Given the description of an element on the screen output the (x, y) to click on. 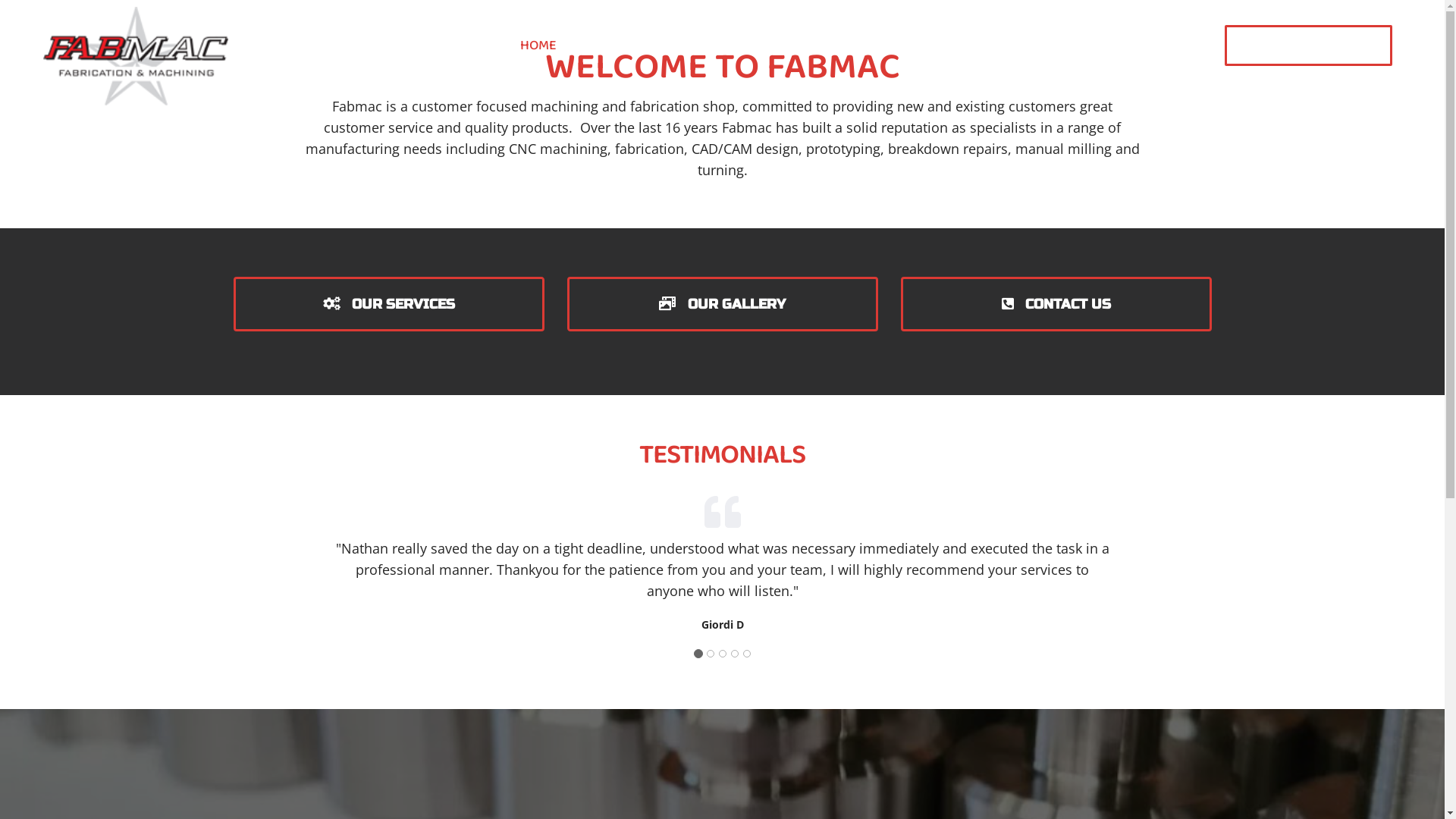
HOME Element type: text (538, 45)
CONTACT Element type: text (850, 45)
OUR GALLERY Element type: text (722, 303)
GALLERY Element type: text (755, 45)
CALL (07) 3382 0097 Element type: text (1307, 45)
CONTACT US Element type: text (1055, 303)
OUR SERVICES Element type: text (388, 303)
SERVICES Element type: text (641, 45)
